Given the description of an element on the screen output the (x, y) to click on. 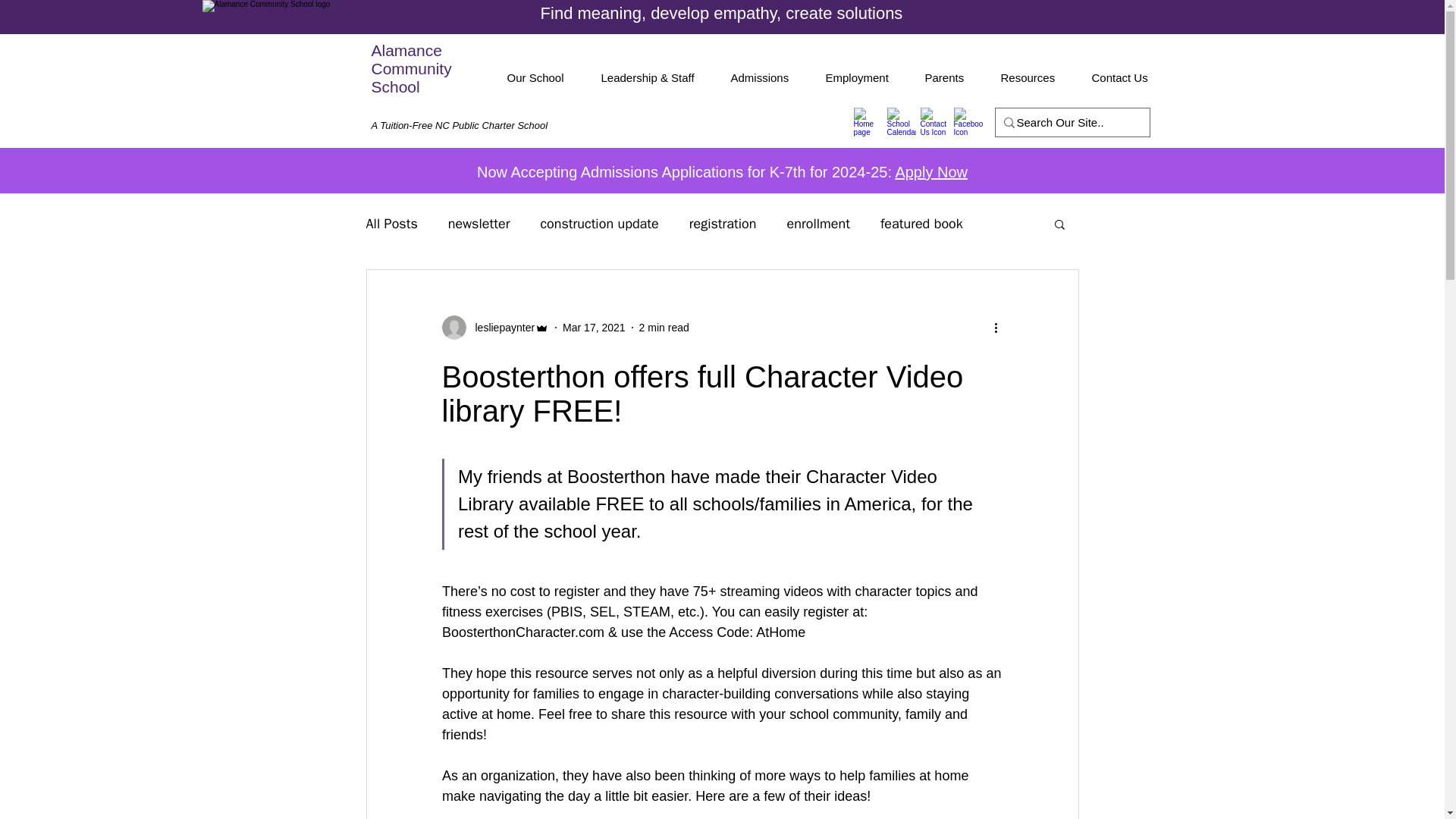
School Calendar Icon (900, 121)
Employment (863, 77)
Mar 17, 2021 (594, 327)
2 min read (663, 327)
lesliepaynter (499, 327)
ACS school logo (289, 87)
Contact Us Icon (934, 121)
Home page icon (867, 121)
FacebookIcon (967, 121)
